Given the description of an element on the screen output the (x, y) to click on. 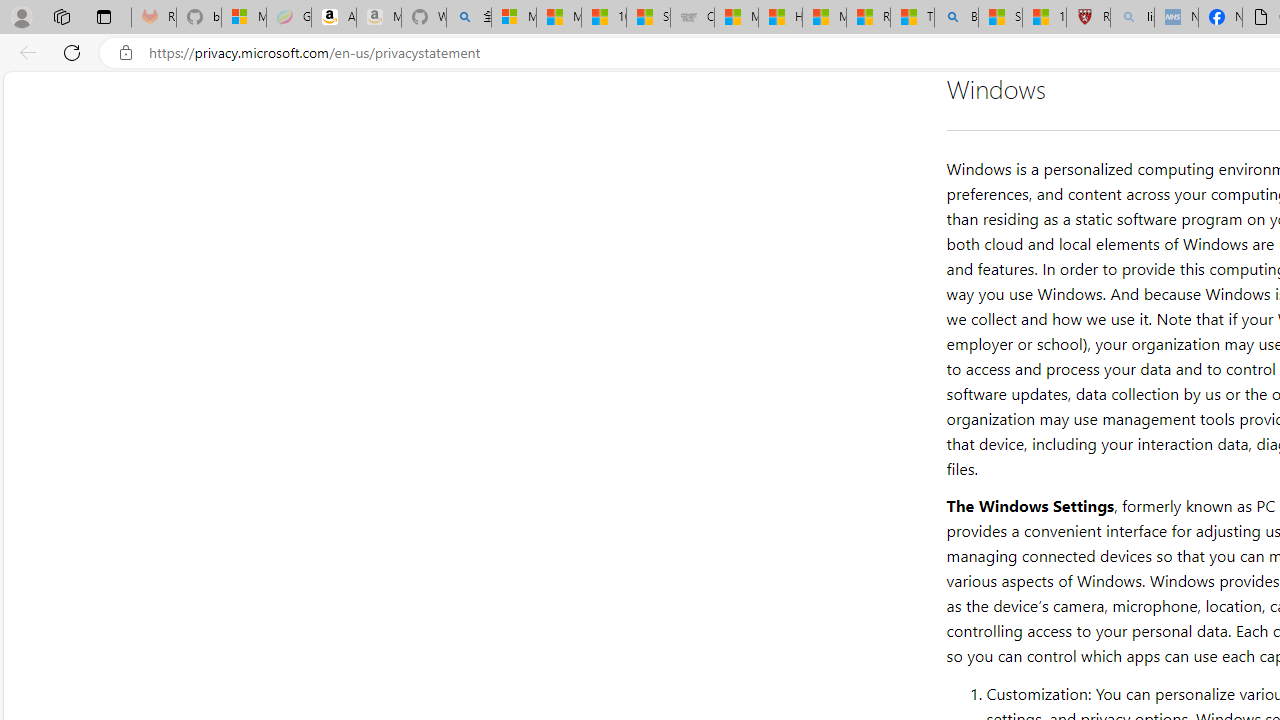
Bing (955, 17)
How I Got Rid of Microsoft Edge's Unnecessary Features (780, 17)
list of asthma inhalers uk - Search - Sleeping (1132, 17)
Combat Siege (692, 17)
NCL Adult Asthma Inhaler Choice Guideline - Sleeping (1176, 17)
